Given the description of an element on the screen output the (x, y) to click on. 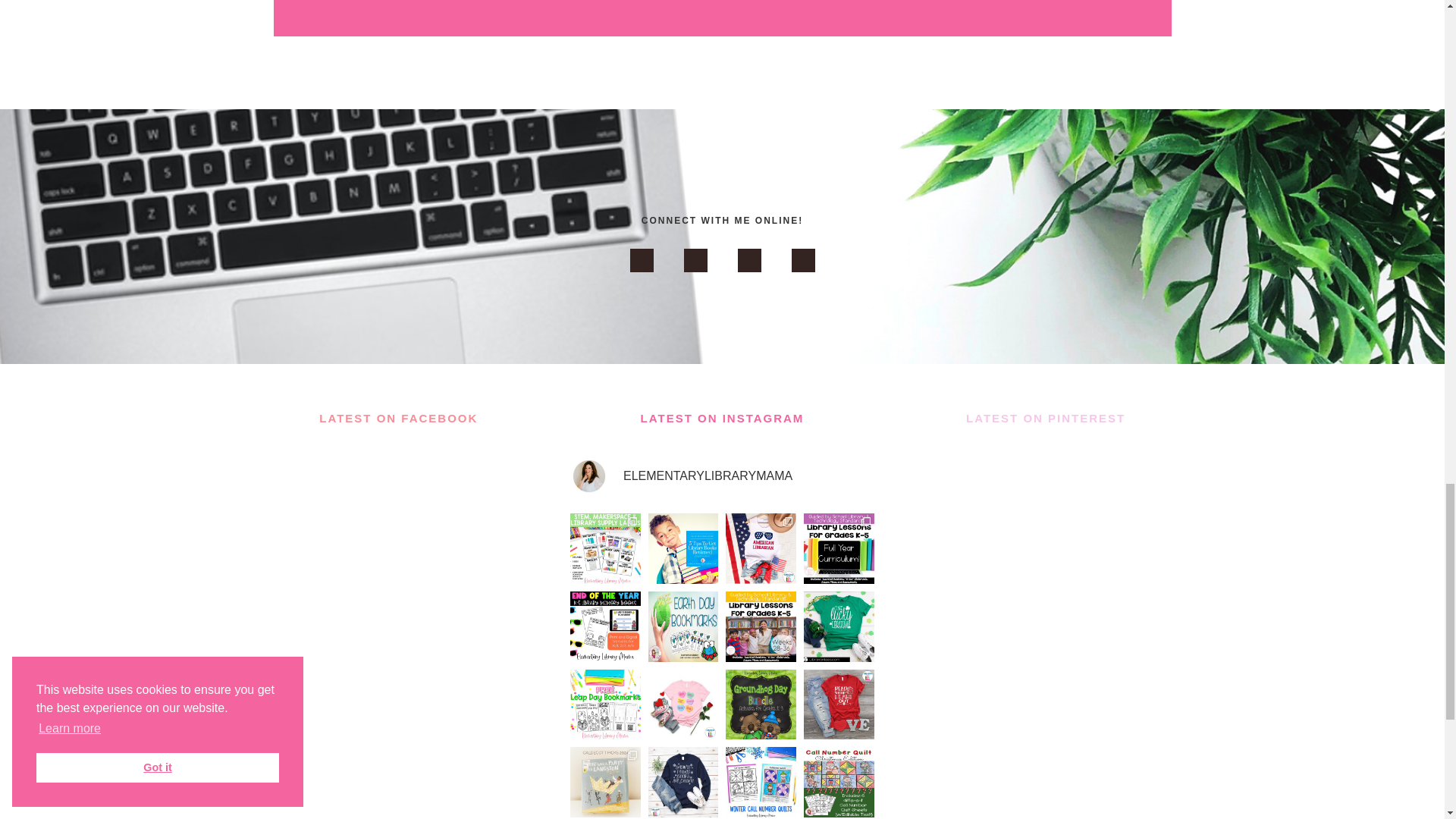
ELEMENTARYLIBRARYMAMA (722, 476)
